Given the description of an element on the screen output the (x, y) to click on. 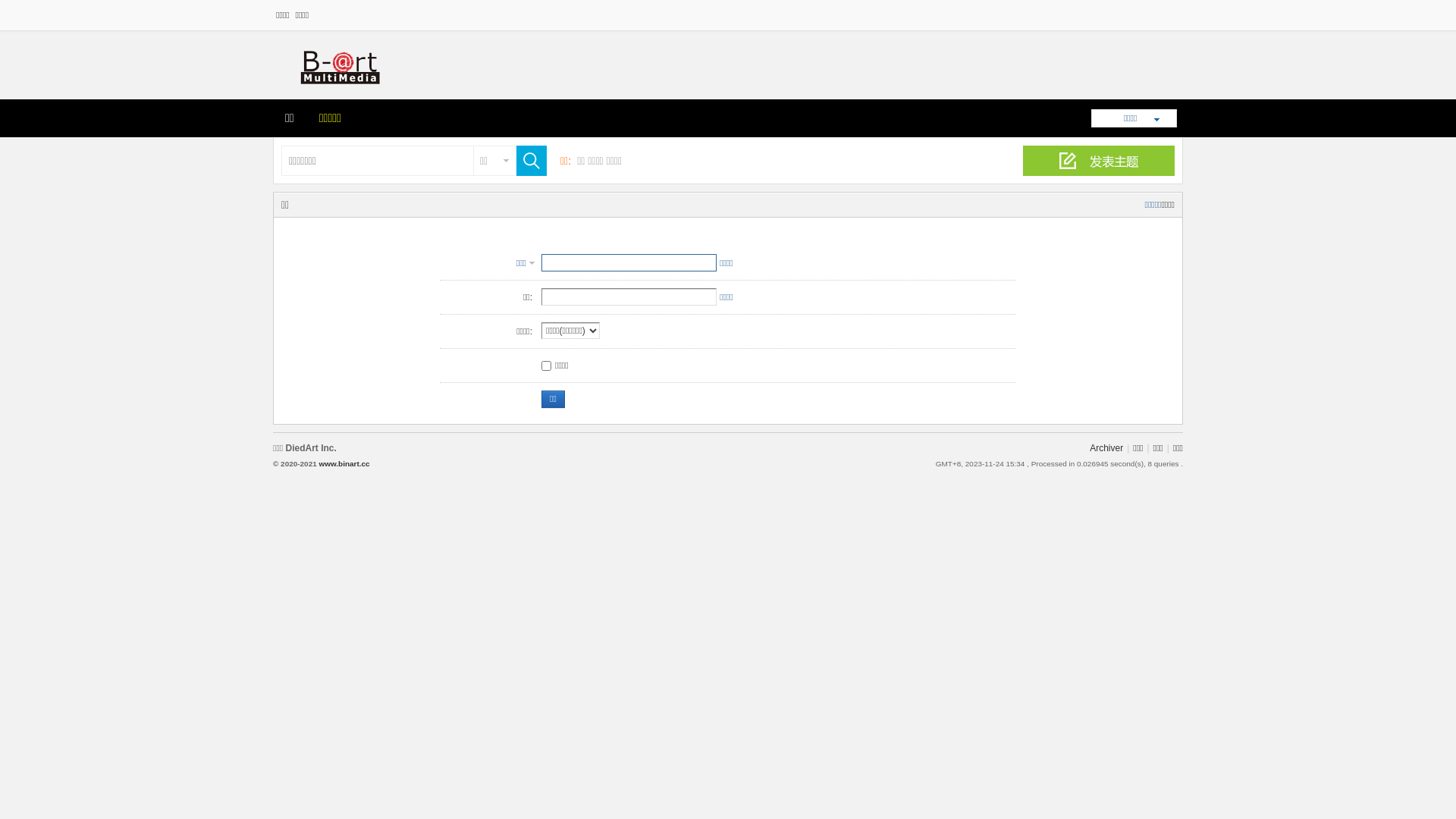
www.binart.cc Element type: text (343, 463)
true Element type: text (527, 160)
Archiver Element type: text (1106, 447)
